Given the description of an element on the screen output the (x, y) to click on. 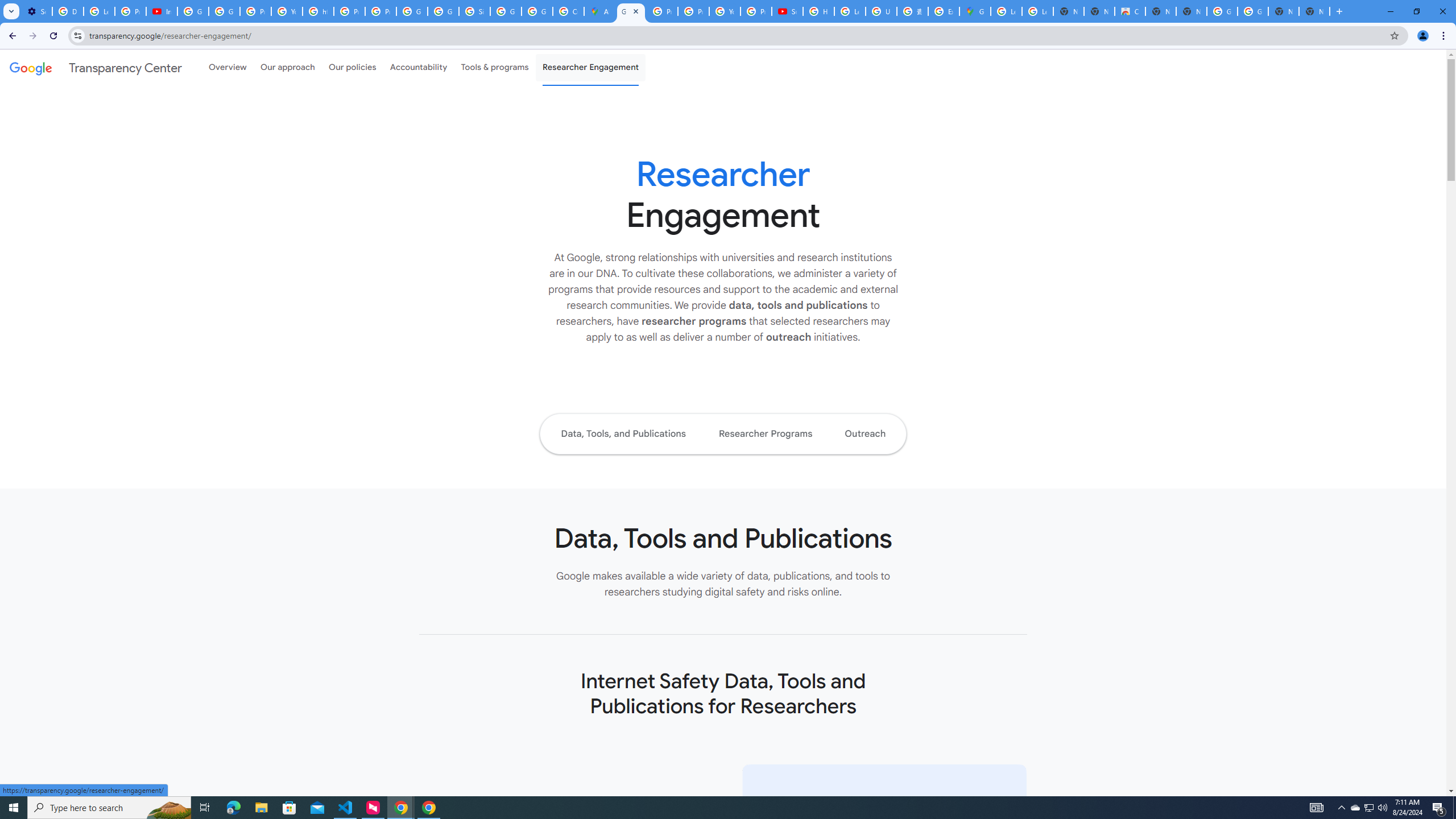
How Chrome protects your passwords - Google Chrome Help (818, 11)
Create your Google Account (568, 11)
